Given the description of an element on the screen output the (x, y) to click on. 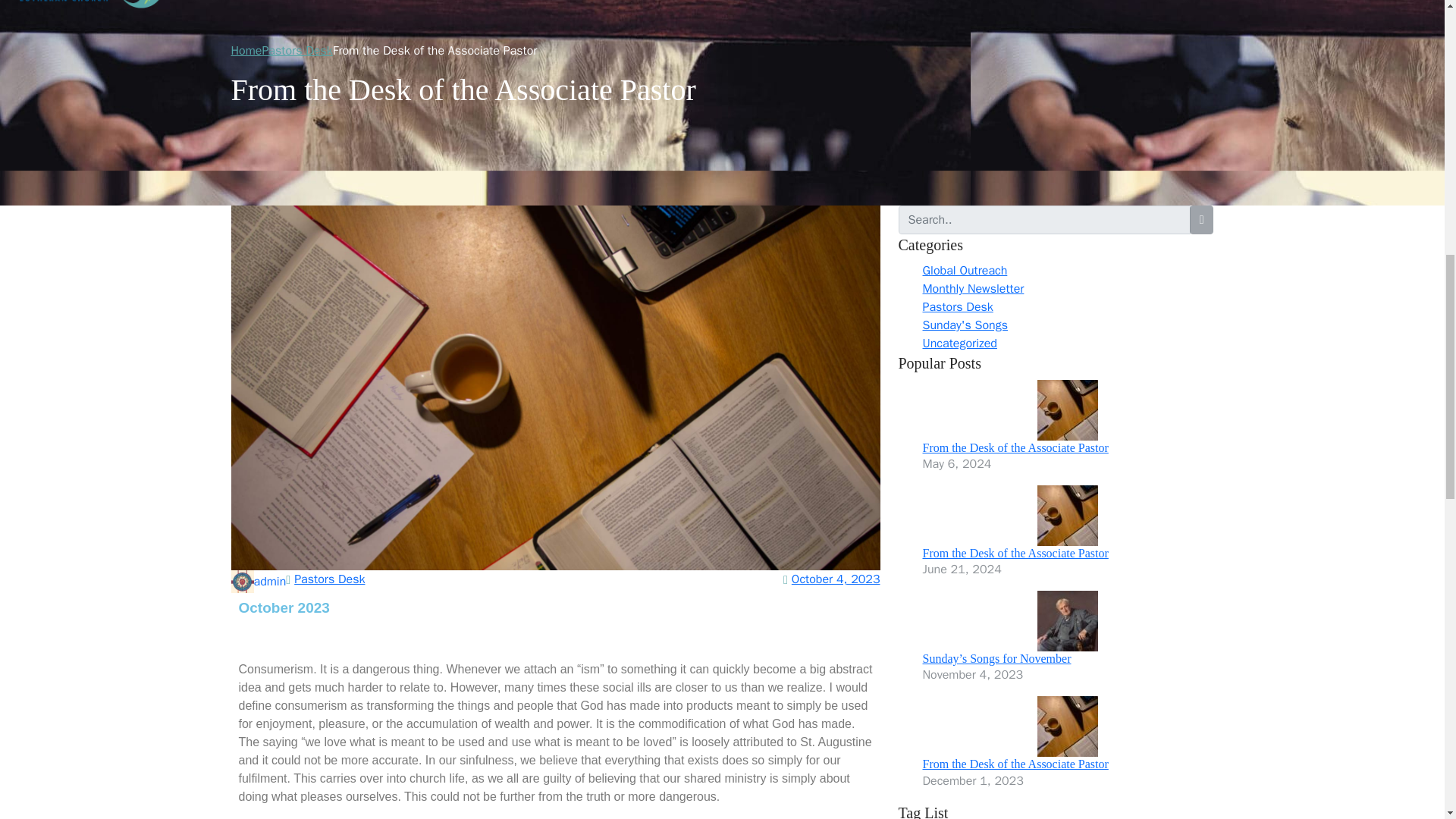
Advent Lutheran Church (88, 4)
Advent Lutheran Church (87, 4)
